Given the description of an element on the screen output the (x, y) to click on. 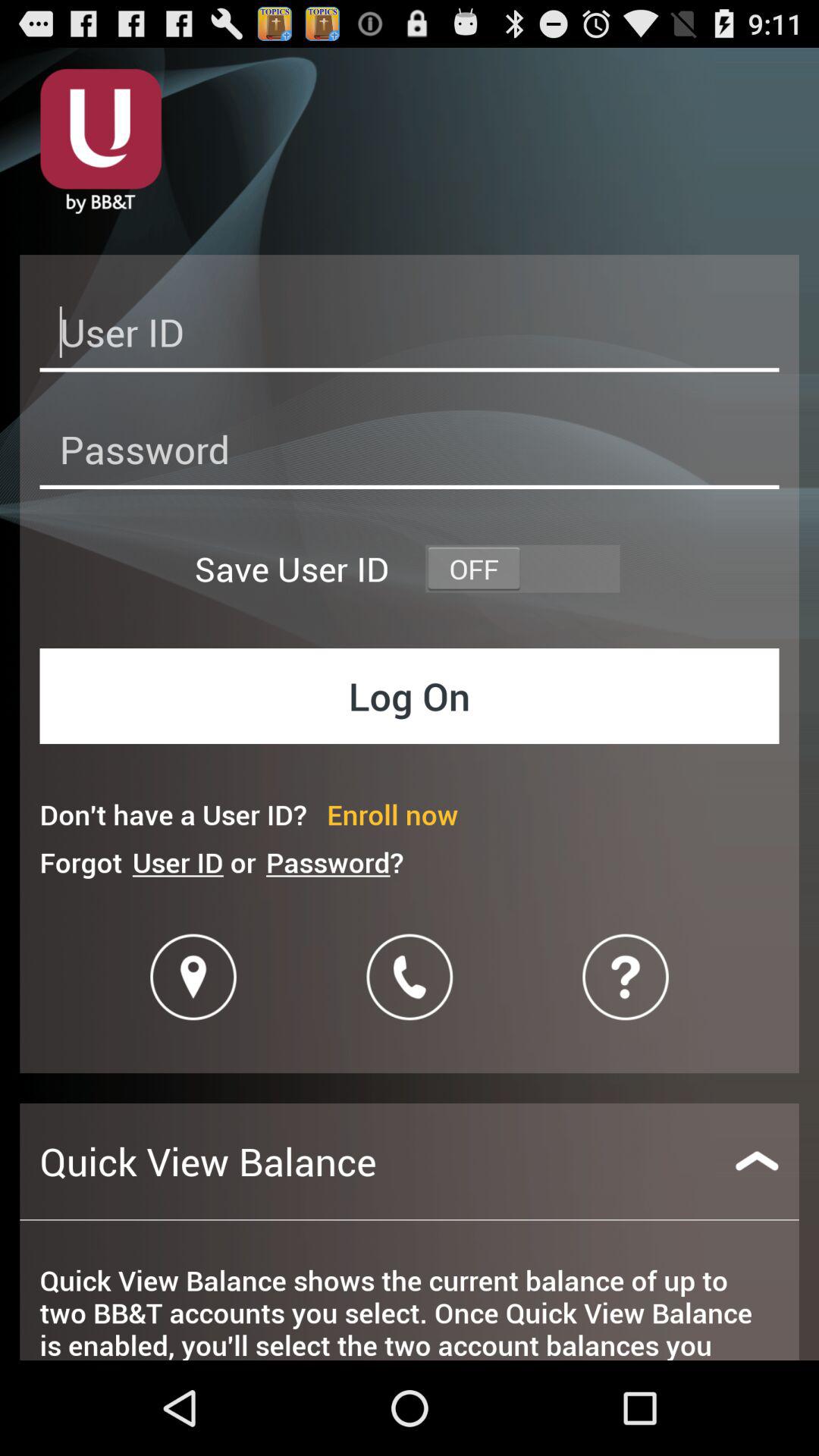
tap enroll now item (392, 814)
